Given the description of an element on the screen output the (x, y) to click on. 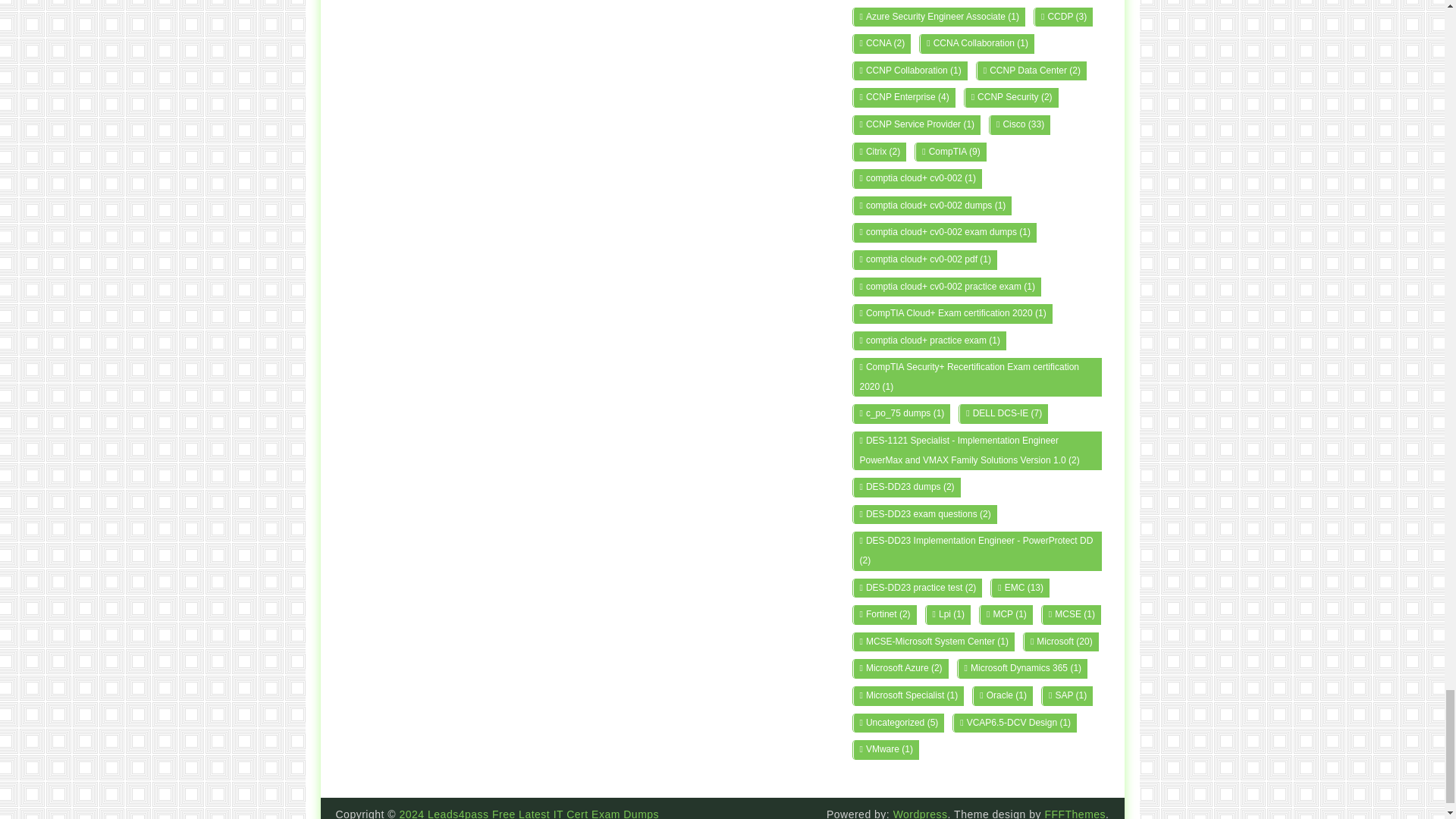
Wordpress (920, 813)
FFF Themes (1074, 813)
